Given the description of an element on the screen output the (x, y) to click on. 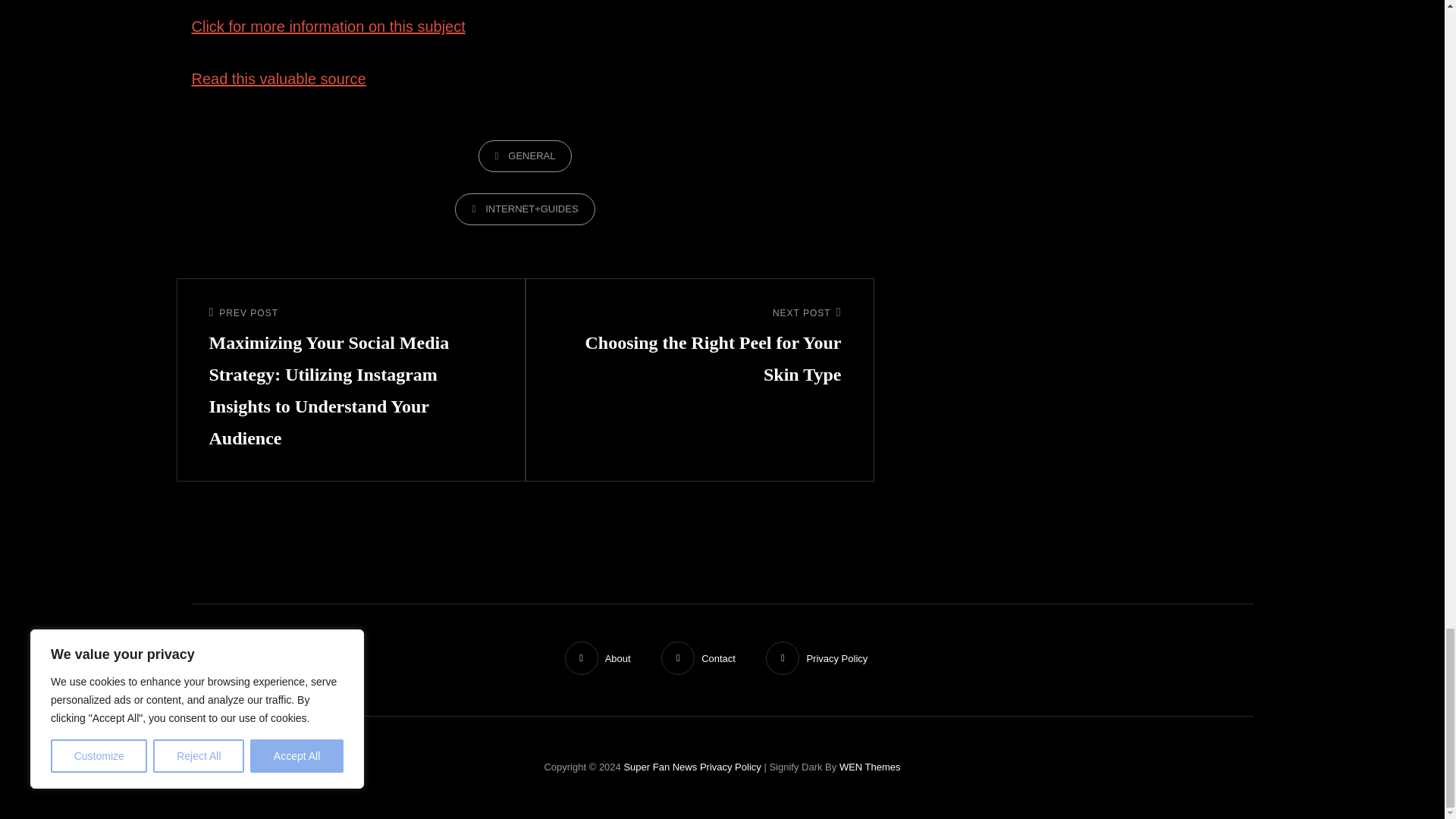
Click for more information on this subject (327, 26)
Read this valuable source (277, 78)
GENERAL (525, 155)
